Given the description of an element on the screen output the (x, y) to click on. 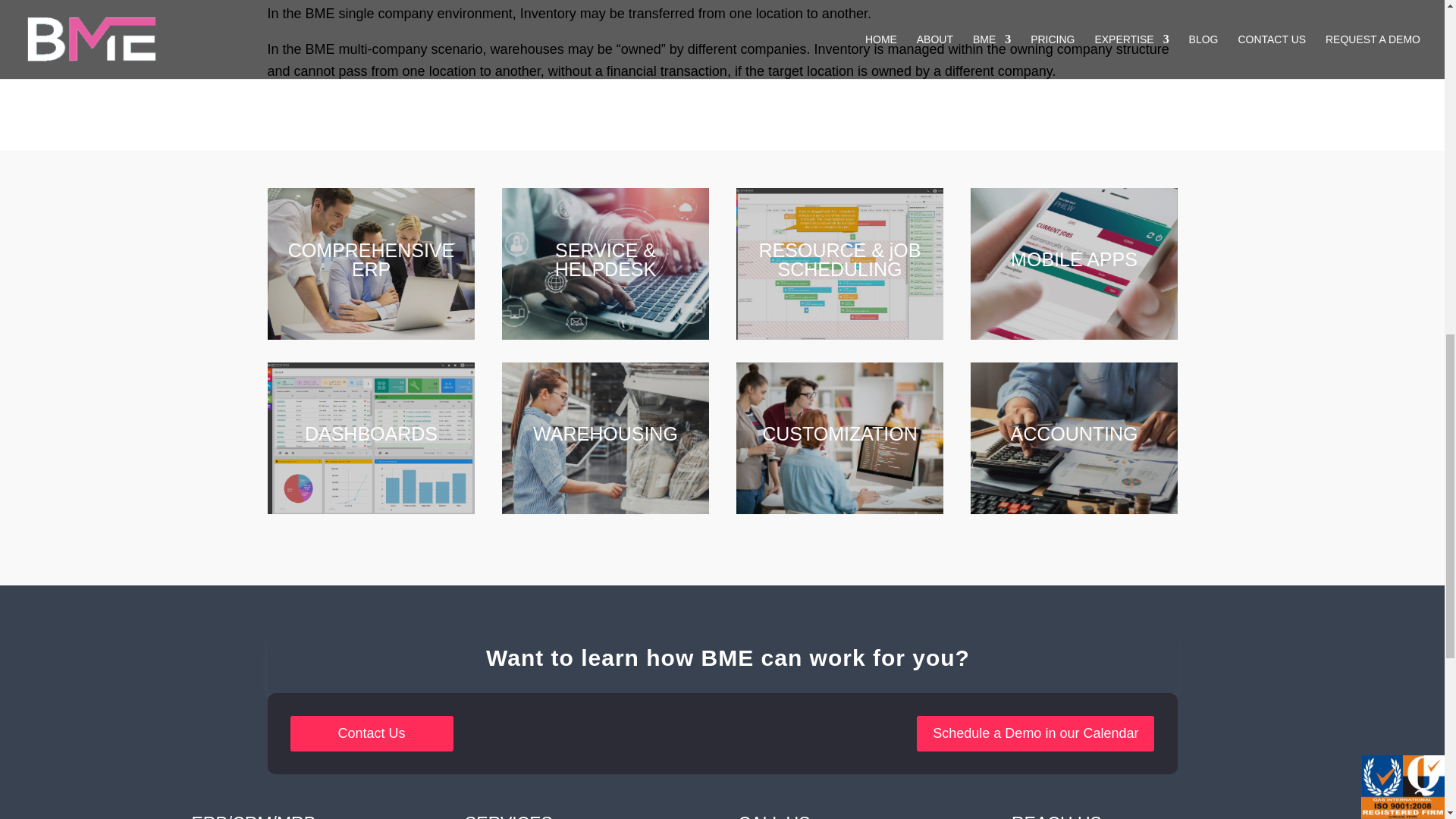
View More (1080, 283)
View More (1080, 457)
View More (845, 457)
View More (377, 457)
Contact Us (370, 733)
View More (611, 291)
View More (611, 457)
View More (377, 291)
View More (845, 291)
Schedule a Demo in our Calendar (1035, 733)
